Given the description of an element on the screen output the (x, y) to click on. 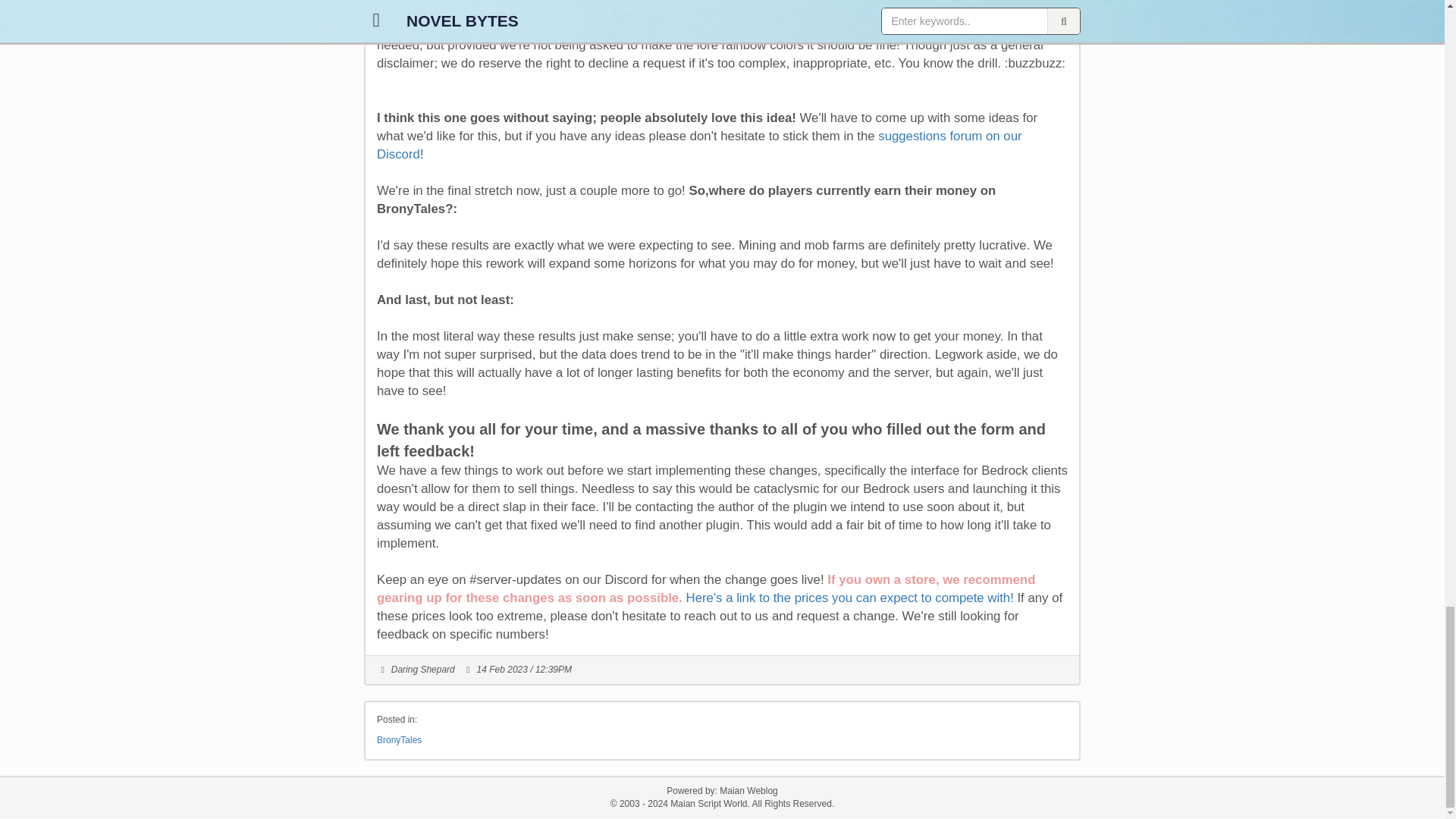
BronyTales (399, 739)
Here's a link to the prices you can expect to compete with! (849, 597)
Maian Weblog (748, 790)
Maian Script World (707, 803)
suggestions forum on our Discord (699, 144)
BronyTales (399, 739)
Maian Weblog (748, 790)
Maian Script World (707, 803)
